Given the description of an element on the screen output the (x, y) to click on. 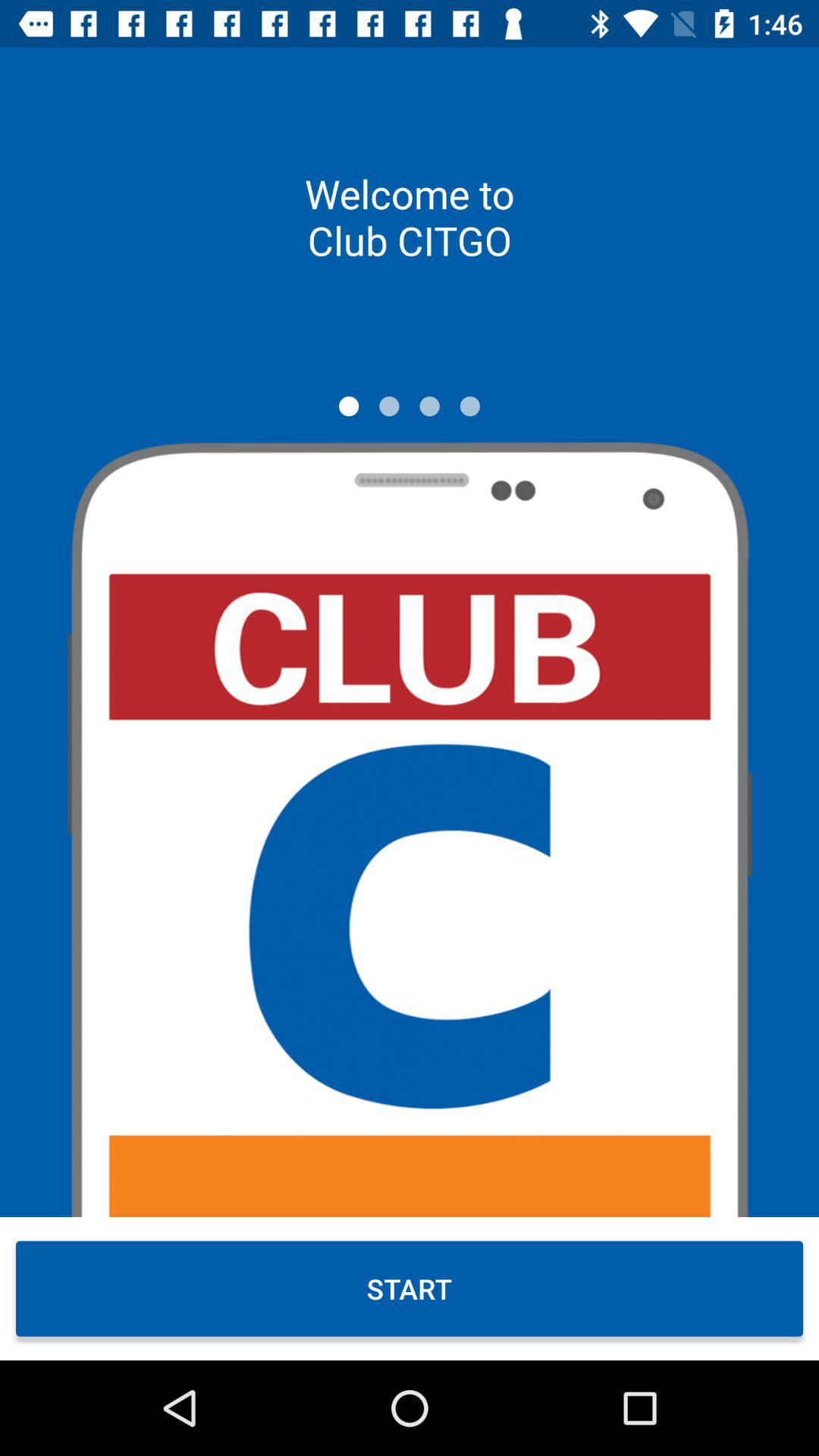
launch icon below the welcome to club icon (470, 406)
